Given the description of an element on the screen output the (x, y) to click on. 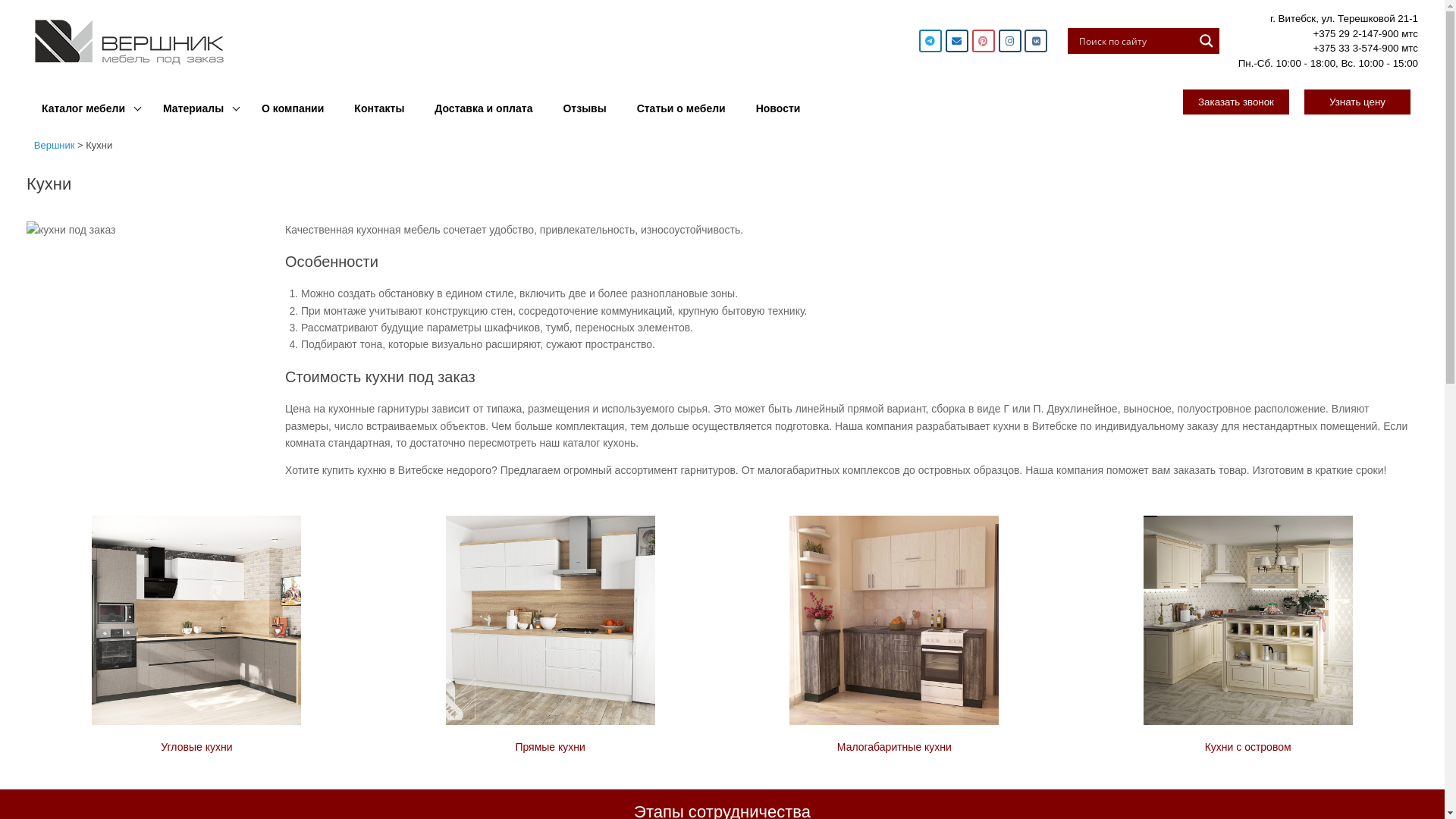
+375 33 3-574-900 Element type: text (1355, 47)
+375 29 2-147-900 Element type: text (1355, 32)
